Given the description of an element on the screen output the (x, y) to click on. 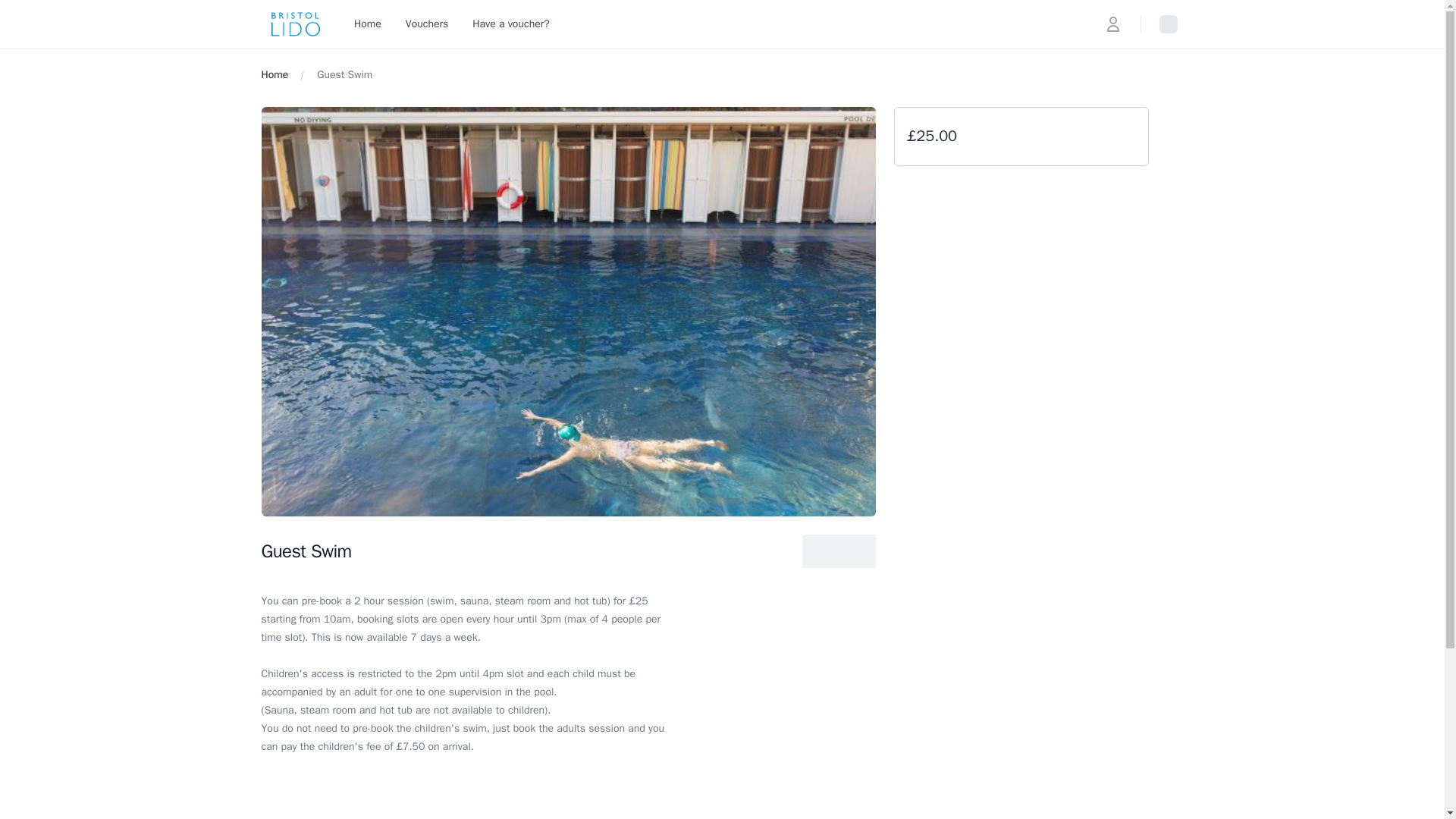
Have a voucher? (510, 24)
Bristol Lido (295, 24)
My account (1112, 24)
Guest Swim (344, 74)
Home (274, 74)
